Given the description of an element on the screen output the (x, y) to click on. 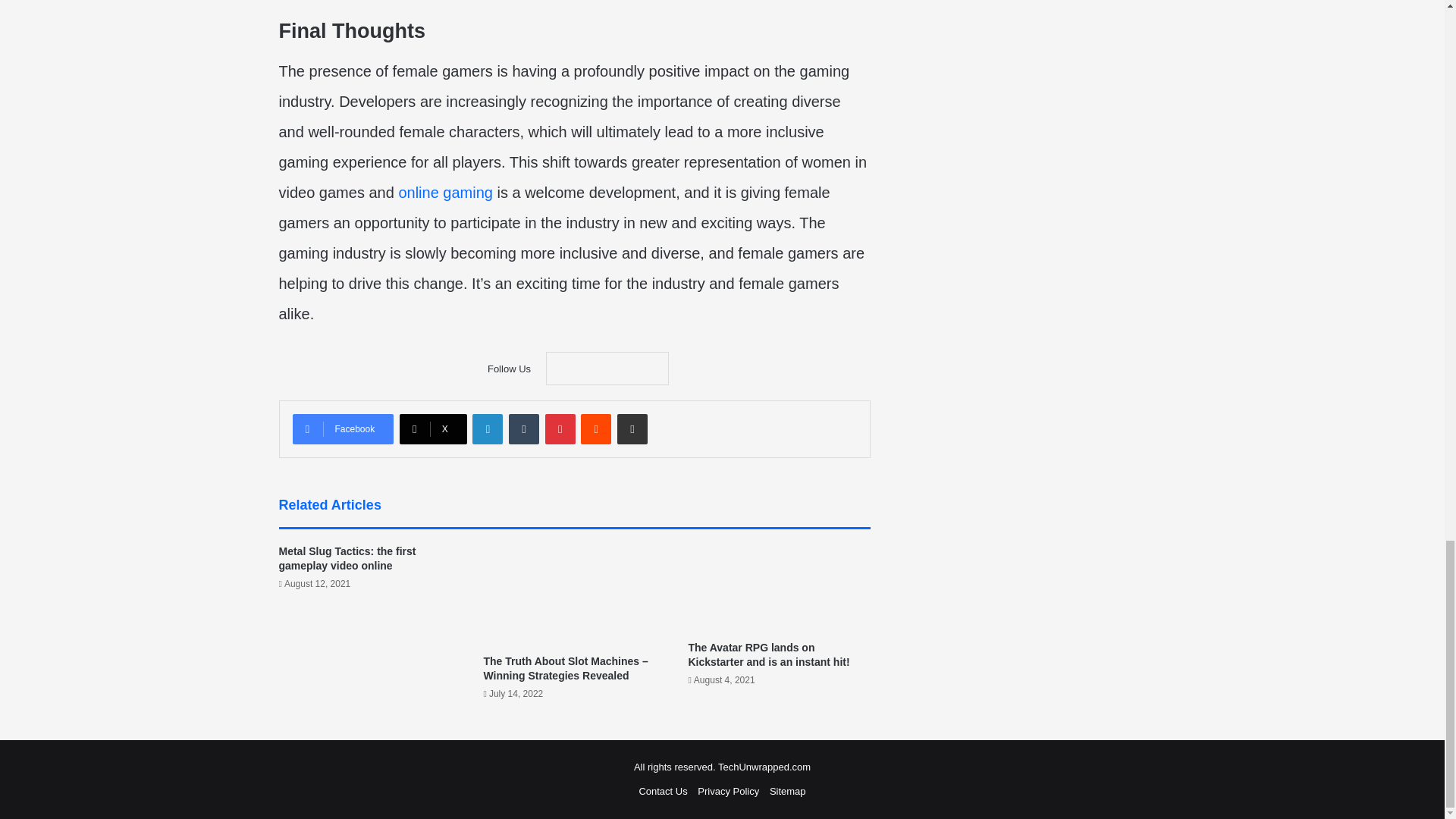
X (432, 429)
Facebook (343, 429)
Share via Email (632, 429)
Pinterest (559, 429)
Tumblr (523, 429)
X (432, 429)
Pinterest (559, 429)
online gaming (445, 192)
Metal Slug Tactics: the first gameplay video online (347, 558)
Contact Us (663, 790)
Reddit (595, 429)
Privacy Policy (727, 790)
Reddit (595, 429)
The Avatar RPG lands on Kickstarter and is an instant hit! (767, 654)
Google News (607, 368)
